Given the description of an element on the screen output the (x, y) to click on. 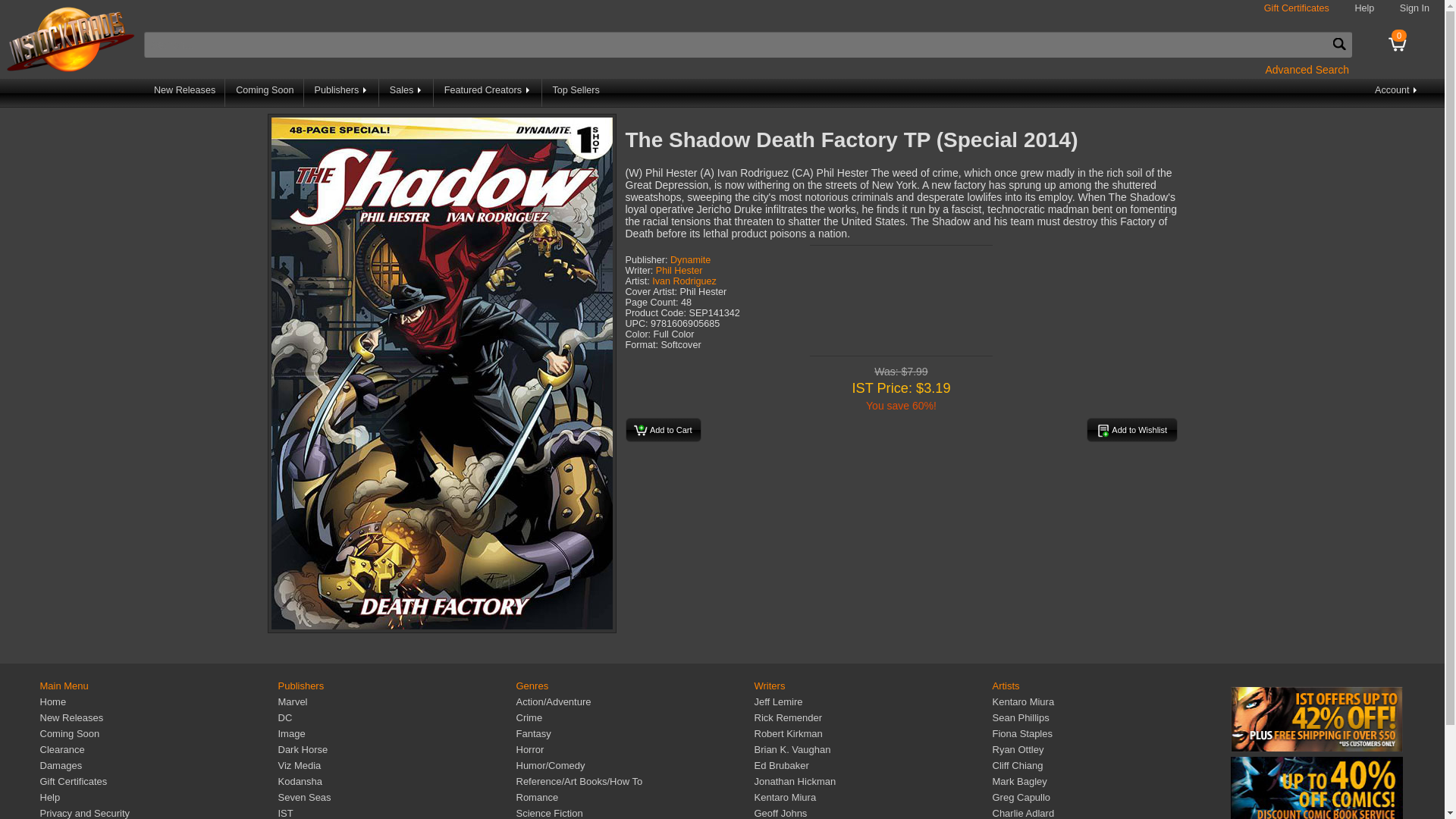
Coming Soon (69, 733)
New Releases (184, 92)
Account (1396, 92)
Add to Wishlist (1131, 428)
Help (1364, 8)
Coming Soon (264, 92)
Dynamite (689, 259)
Publishers (341, 92)
Featured Creators (488, 92)
Sales (406, 92)
Add to Cart (662, 428)
Sign In (1414, 8)
Phil Hester (679, 270)
Home (52, 701)
Gift Certificates (1296, 8)
